Given the description of an element on the screen output the (x, y) to click on. 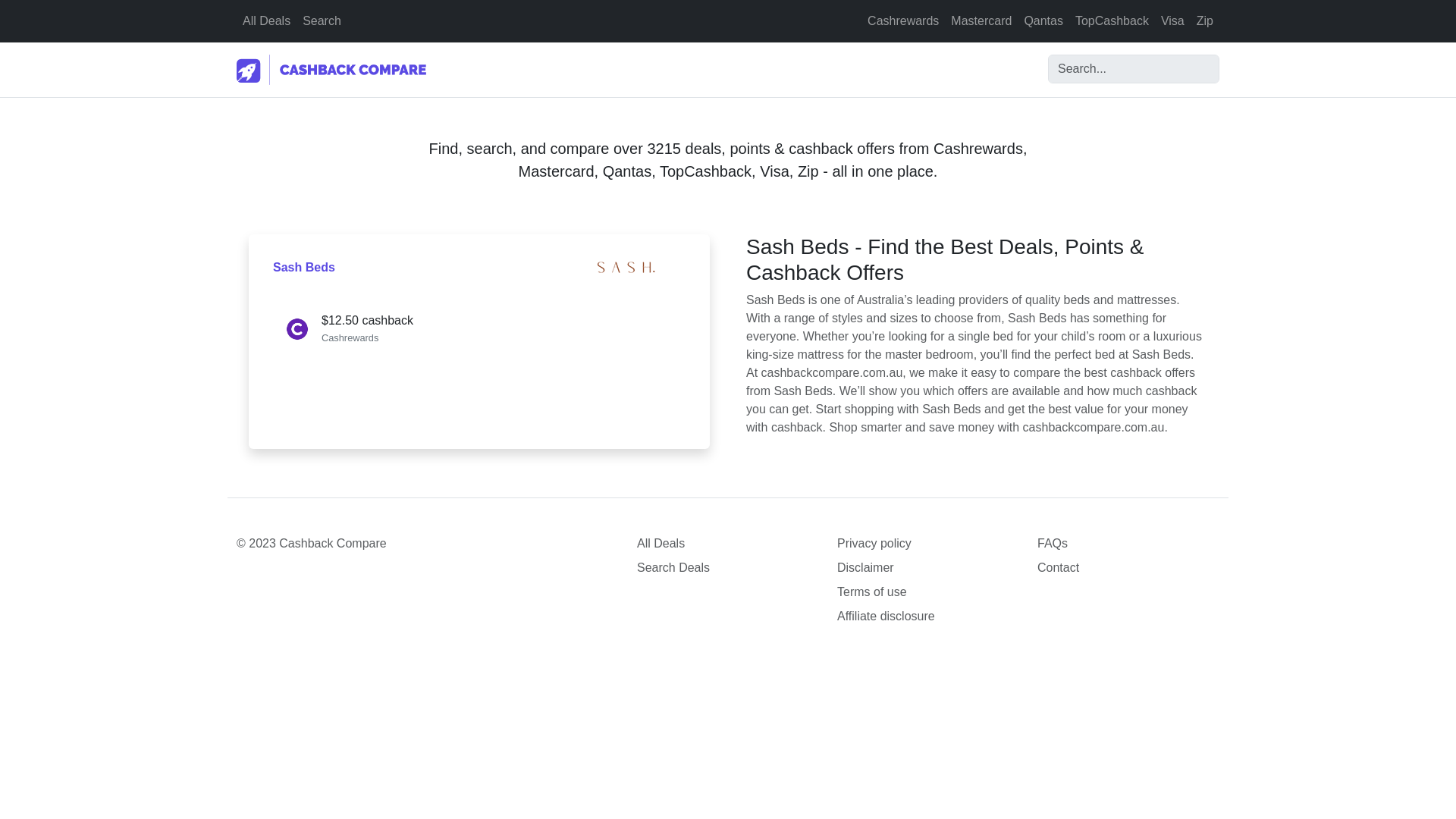
Terms of use (928, 592)
Qantas (1042, 20)
FAQs (1128, 543)
Sash Beds (303, 267)
Zip (1205, 20)
Search Deals (727, 567)
All Deals (266, 20)
All Deals (727, 543)
Affiliate disclosure (928, 616)
Mastercard (980, 20)
Contact (1128, 567)
Disclaimer (928, 567)
Visa (1172, 20)
Privacy policy (928, 543)
Search (322, 20)
